Given the description of an element on the screen output the (x, y) to click on. 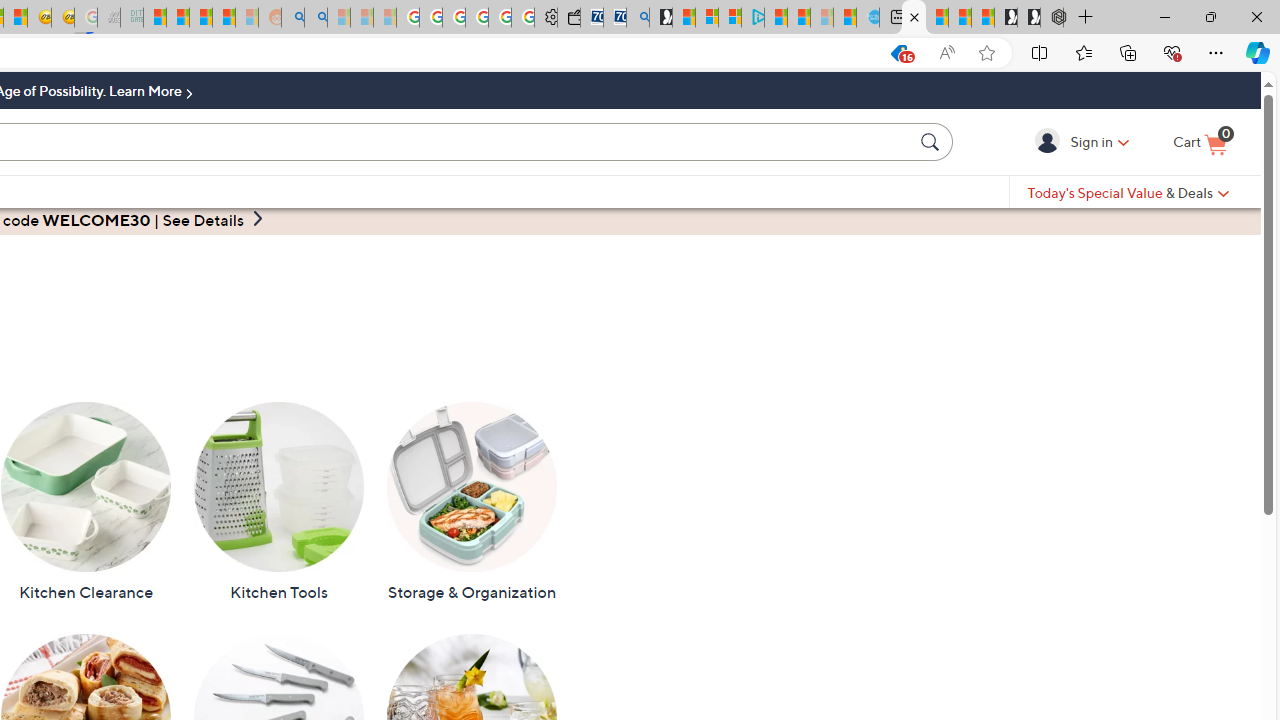
Storage & Organization (471, 502)
This site has coupons! Shopping in Microsoft Edge, 16 (898, 53)
Student Loan Update: Forgiveness Program Ends This Month (223, 17)
